Given the description of an element on the screen output the (x, y) to click on. 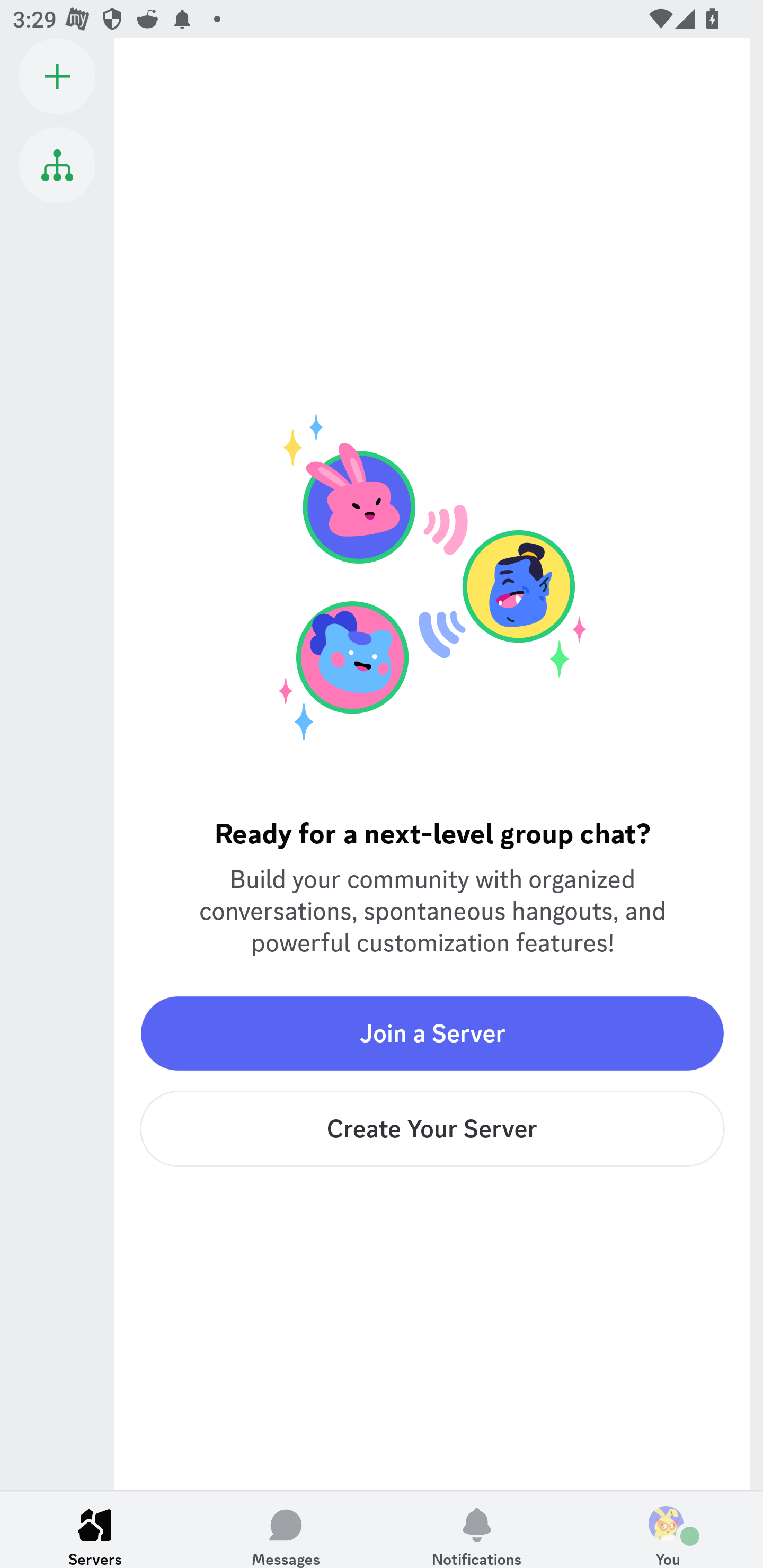
Add a Server (57, 75)
Student Hub (57, 165)
Join a Server (431, 1032)
Create Your Server (431, 1128)
Servers (95, 1529)
Messages (285, 1529)
Notifications (476, 1529)
You (667, 1529)
